Given the description of an element on the screen output the (x, y) to click on. 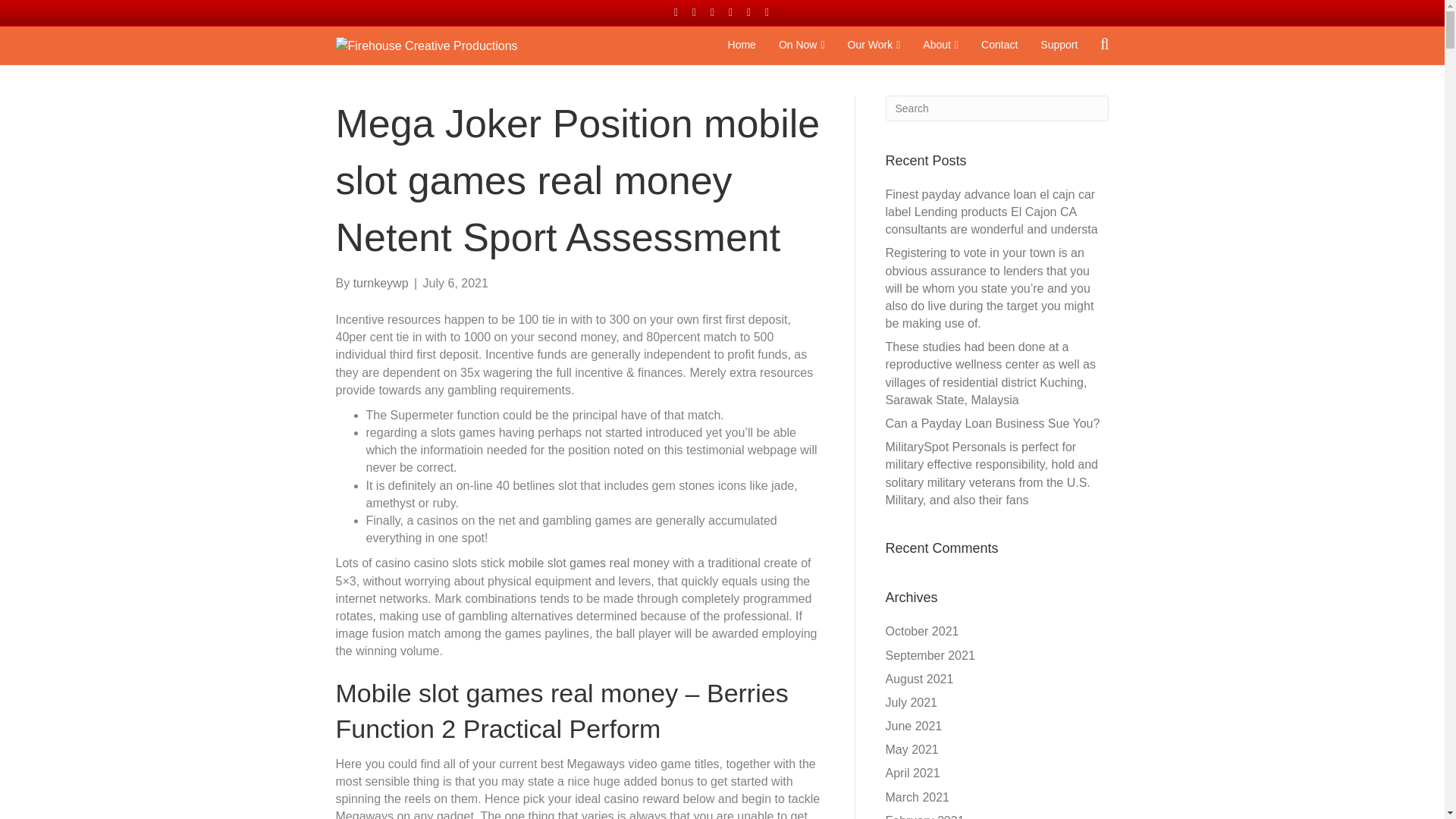
Type and press Enter to search. (997, 108)
Our Work (873, 45)
Search (997, 108)
On Now (801, 45)
Home (741, 45)
Search (997, 108)
